Given the description of an element on the screen output the (x, y) to click on. 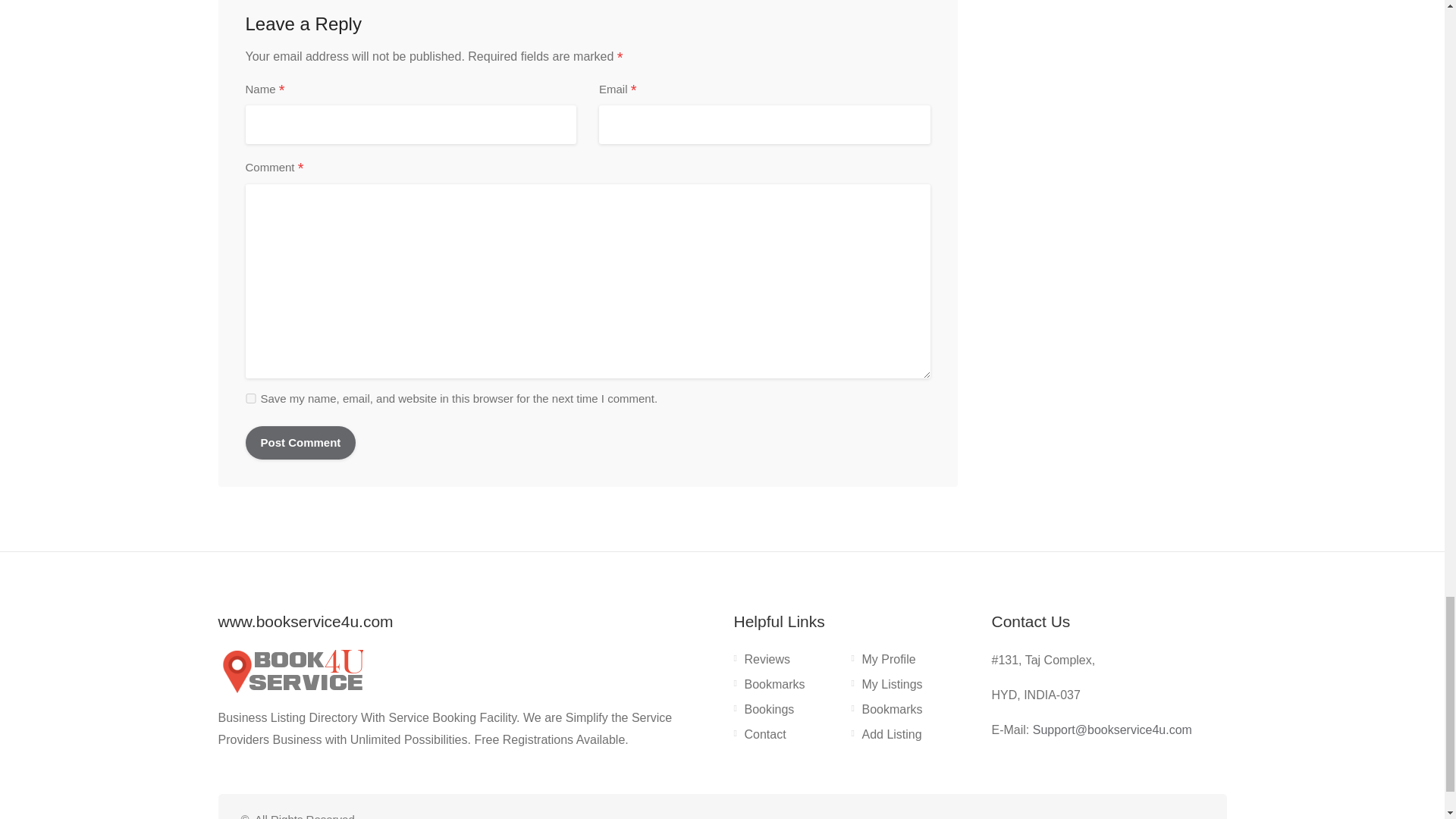
yes (251, 398)
Post Comment (301, 442)
